Given the description of an element on the screen output the (x, y) to click on. 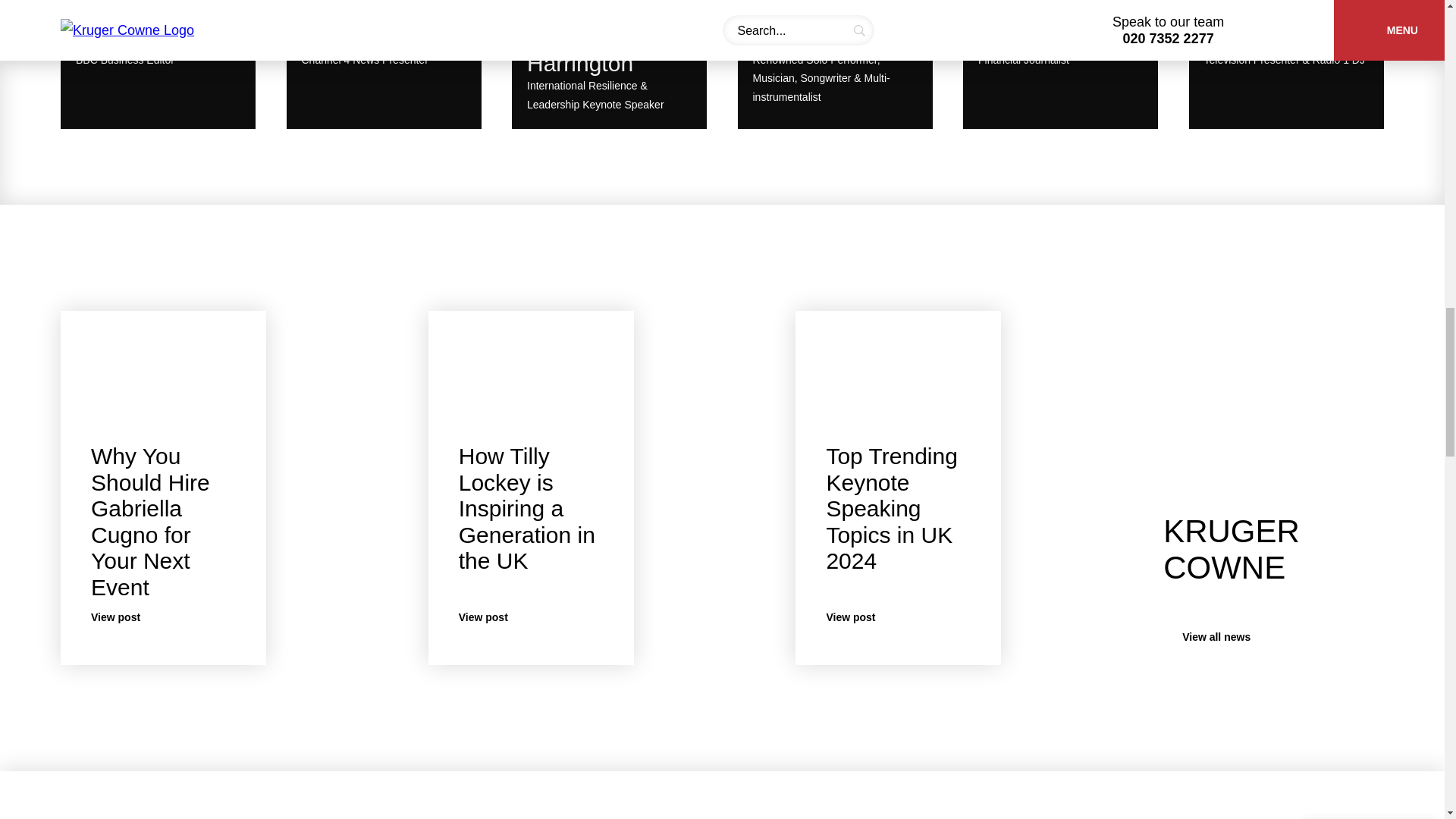
View post (158, 68)
How Tilly Lockey is Inspiring a Generation in the UK (383, 68)
Top Trending Keynote Speaking Topics in UK 2024 (162, 617)
View all news (1059, 68)
View post (526, 508)
View post (890, 508)
